Given the description of an element on the screen output the (x, y) to click on. 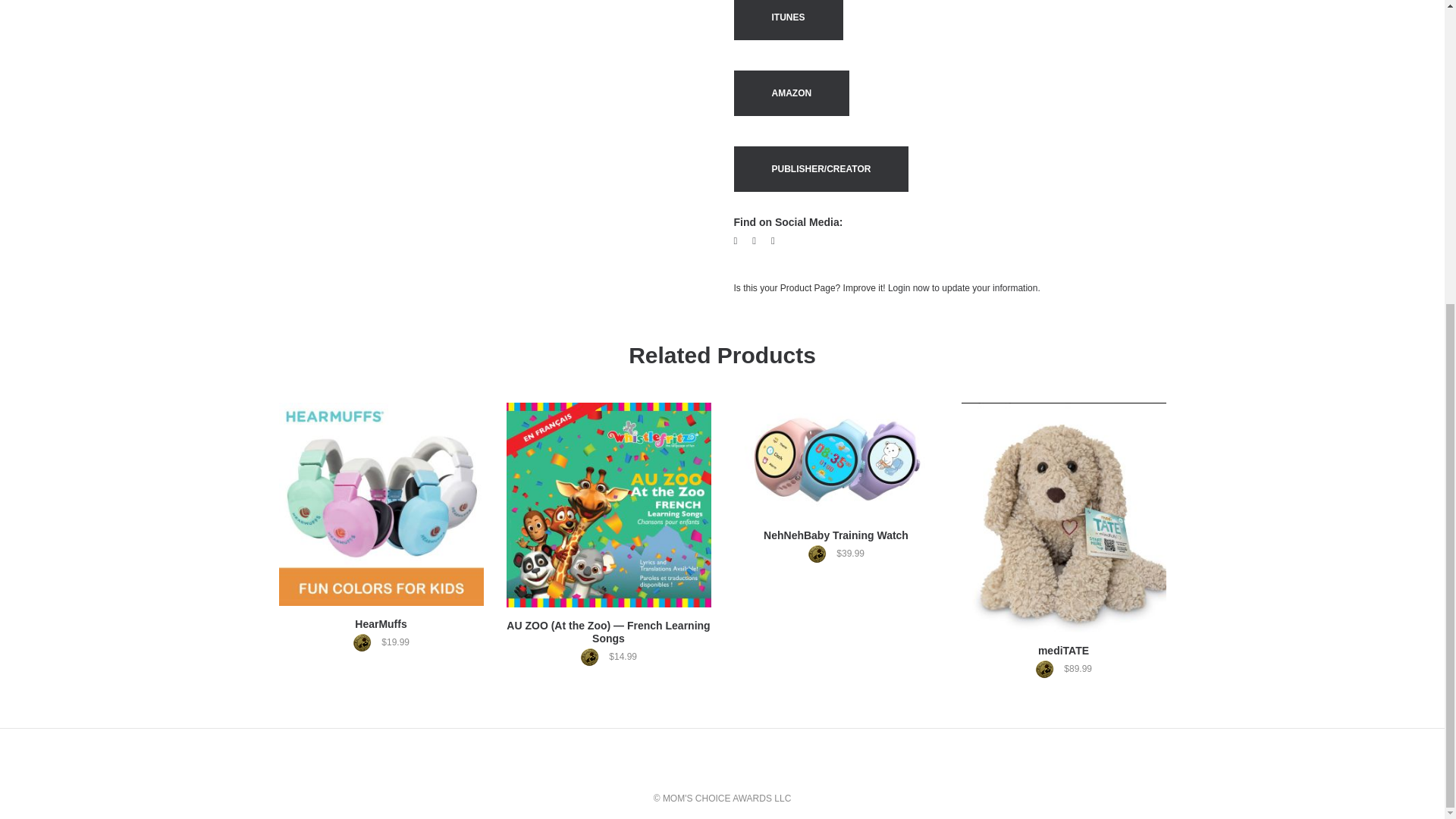
MCA Gold Award (365, 642)
MCA Gold Award (593, 656)
MCA Gold Award (1048, 669)
MCA Gold Award (821, 553)
